Given the description of an element on the screen output the (x, y) to click on. 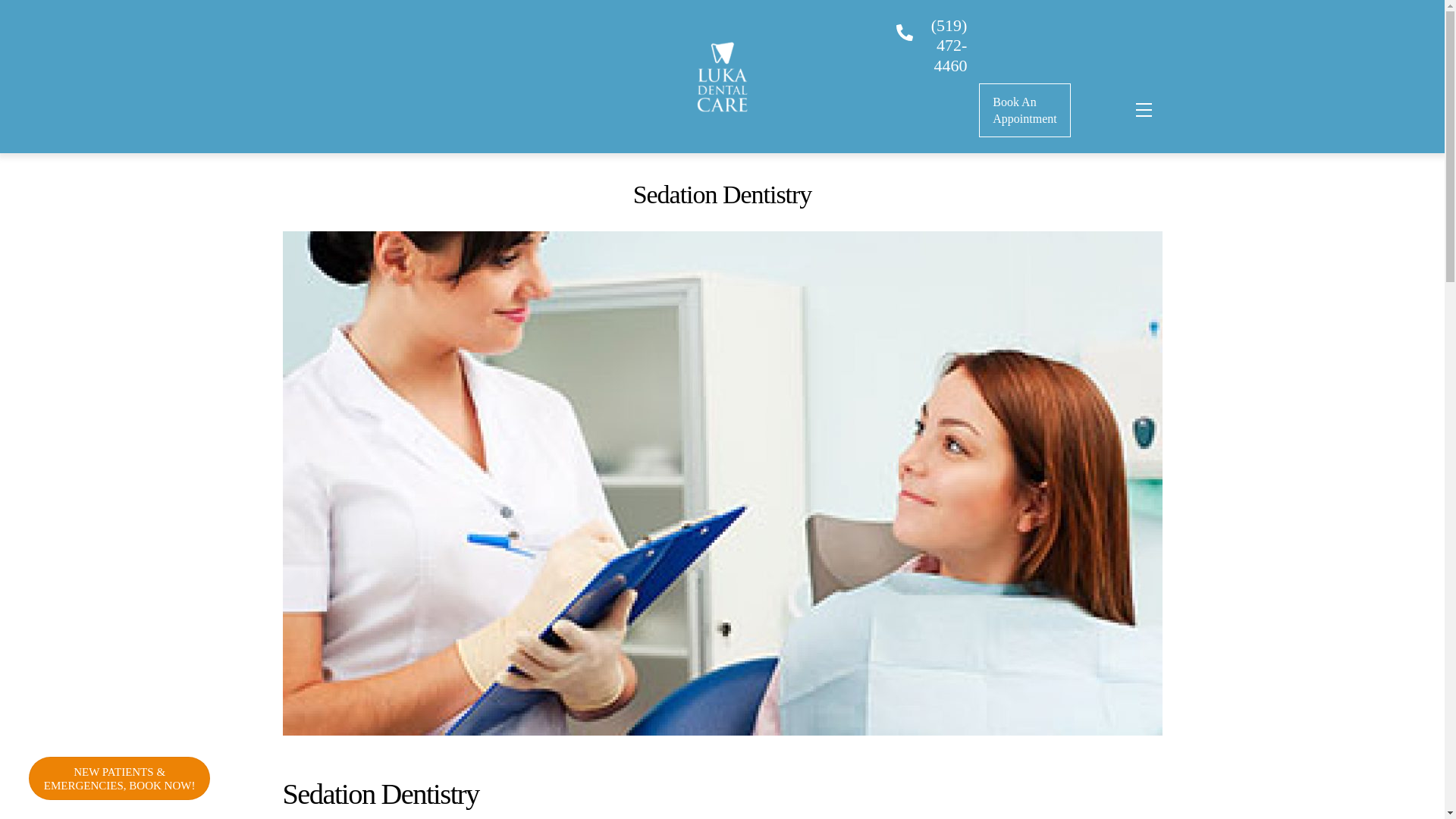
Sedation Dentistry (721, 76)
Book An Appointment (1024, 110)
Menu (1141, 110)
